Given the description of an element on the screen output the (x, y) to click on. 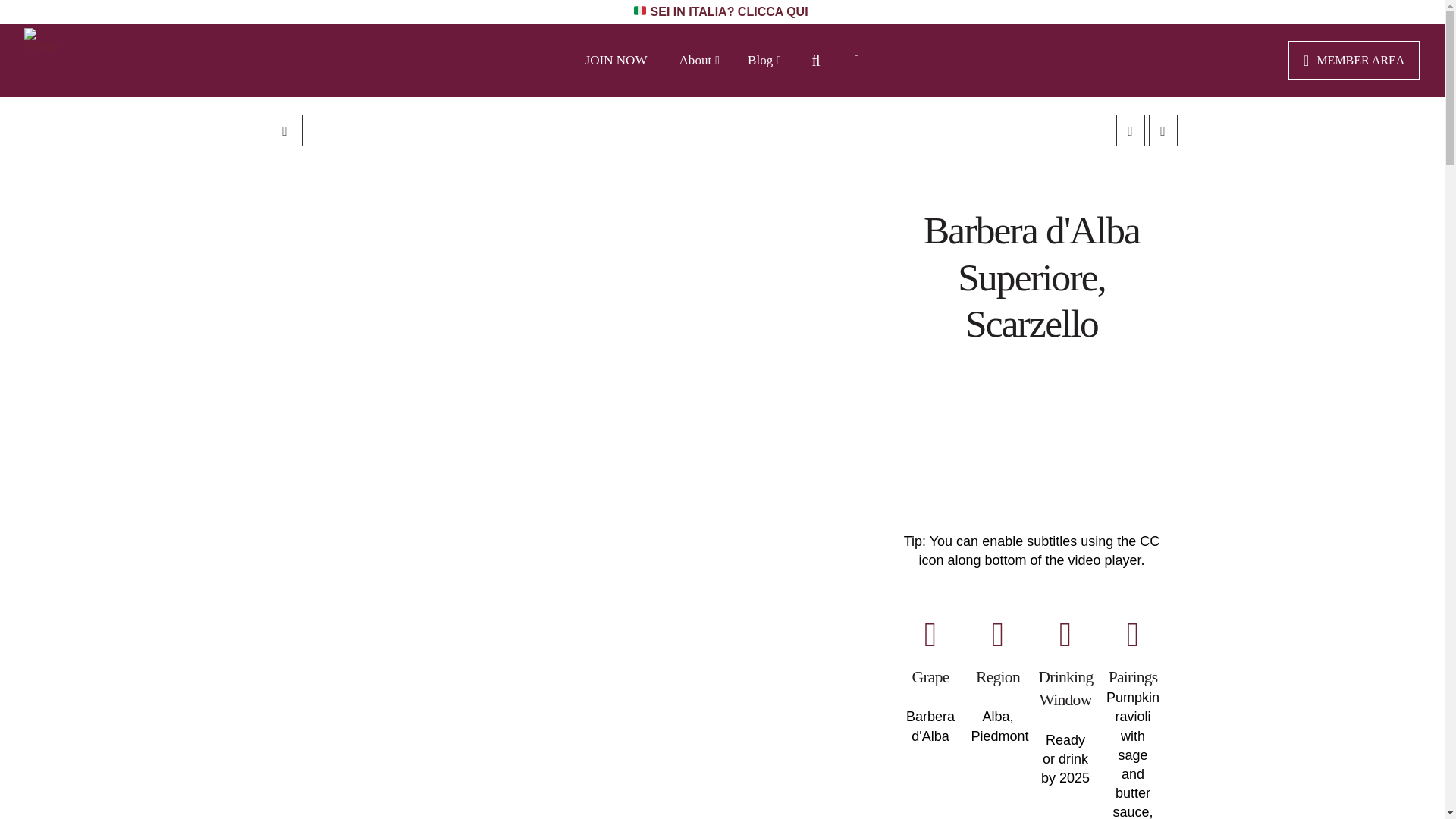
YouTube video player (1032, 446)
MEMBER AREA (1354, 60)
SEI IN ITALIA? CLICCA QUI  (721, 11)
Blog (762, 60)
See All Posts (283, 130)
JOIN NOW (616, 60)
About (697, 60)
